Given the description of an element on the screen output the (x, y) to click on. 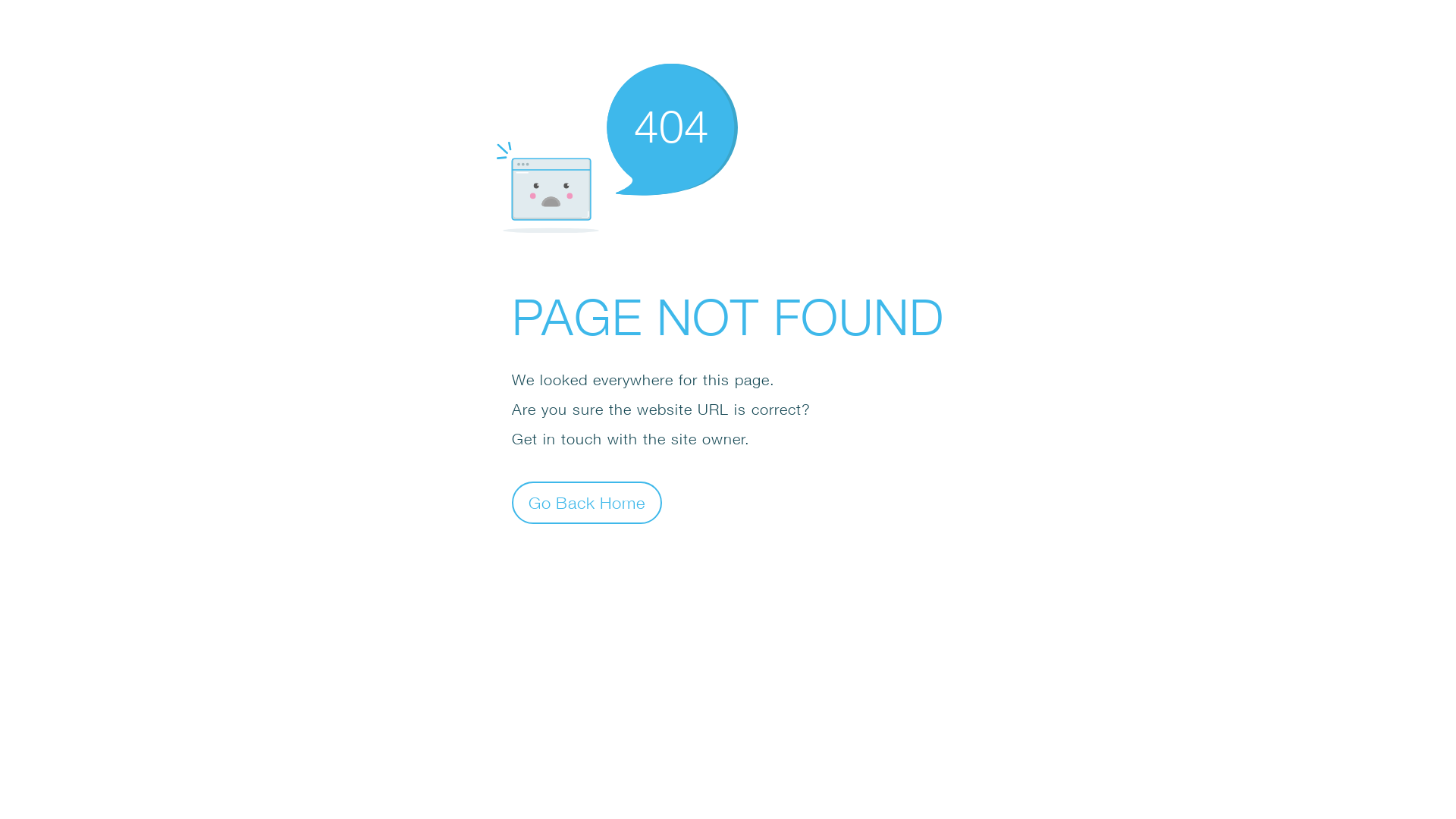
Go Back Home Element type: text (586, 502)
